Given the description of an element on the screen output the (x, y) to click on. 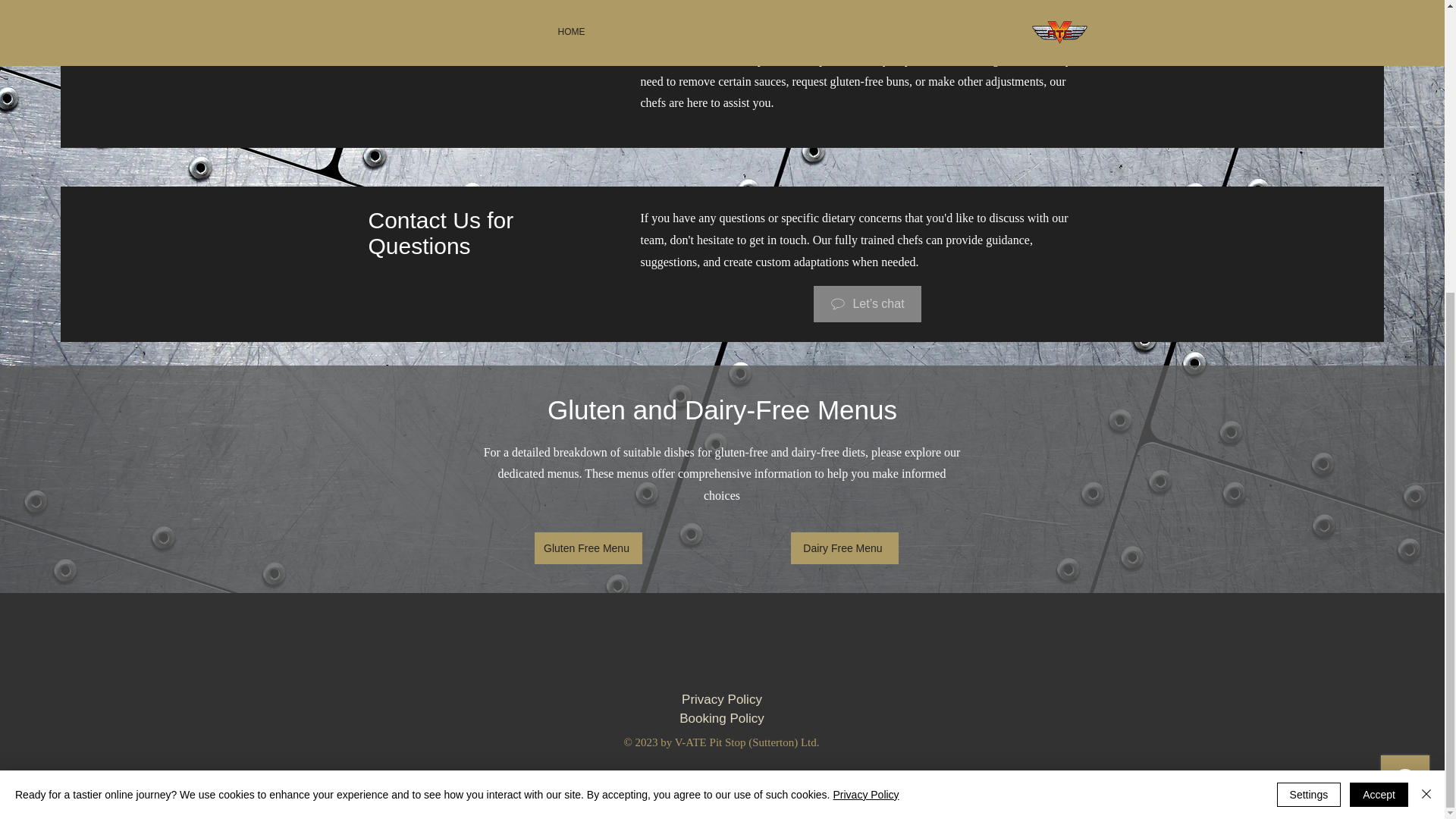
Dairy Free Menu (844, 548)
Settings (1308, 347)
Privacy Policy (865, 347)
Privacy Policy (722, 699)
Accept (1378, 347)
Booking Policy (722, 718)
Gluten Free Menu (588, 548)
